Given the description of an element on the screen output the (x, y) to click on. 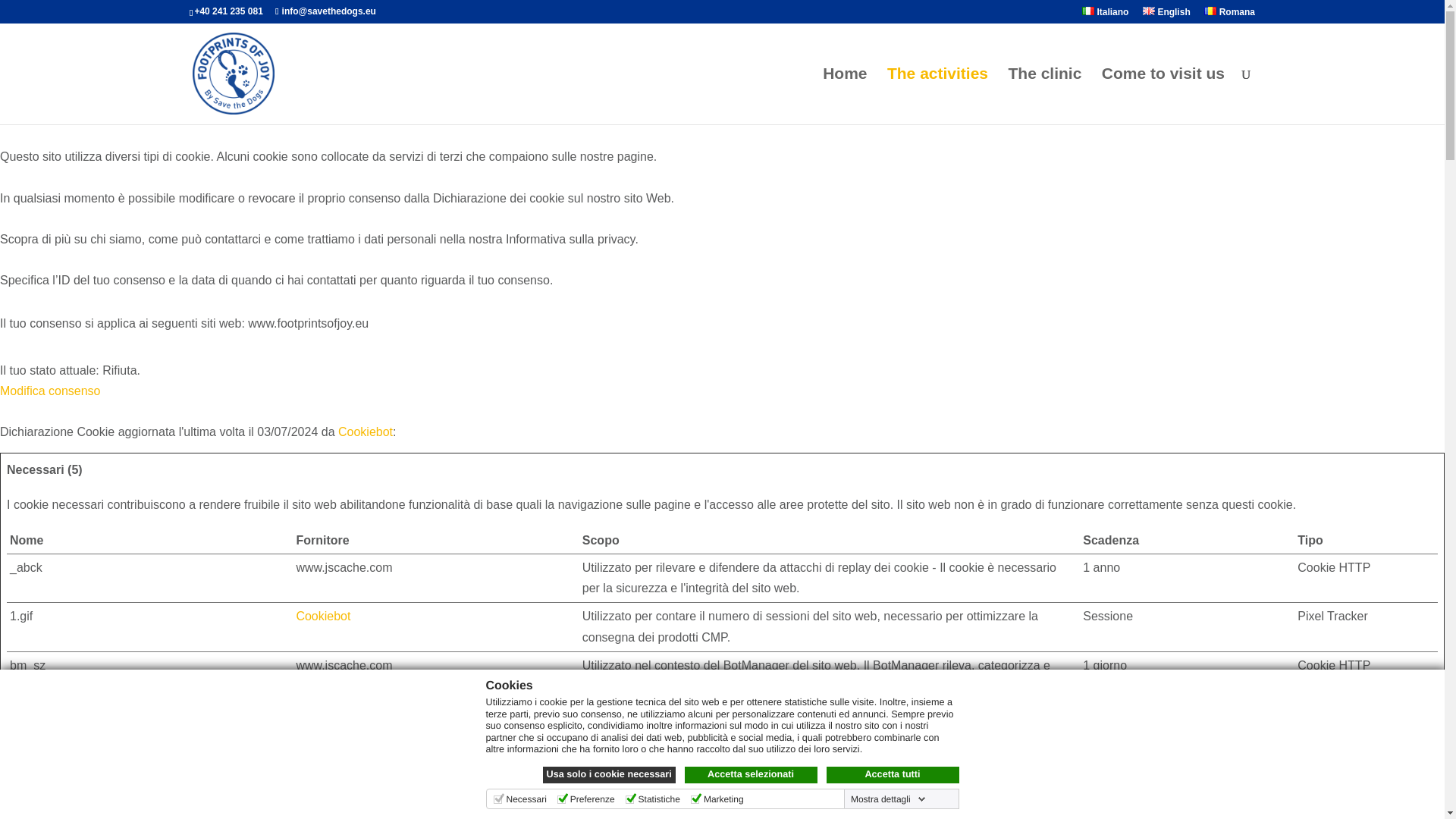
l'informativa sulla privacy di Cookiebot (322, 615)
Cookiebot (322, 713)
Cookiebot (365, 431)
Modifica consenso (50, 390)
Cookiebot (365, 431)
l'informativa sulla privacy di Cookiebot (322, 713)
Cookiebot (322, 615)
